Given the description of an element on the screen output the (x, y) to click on. 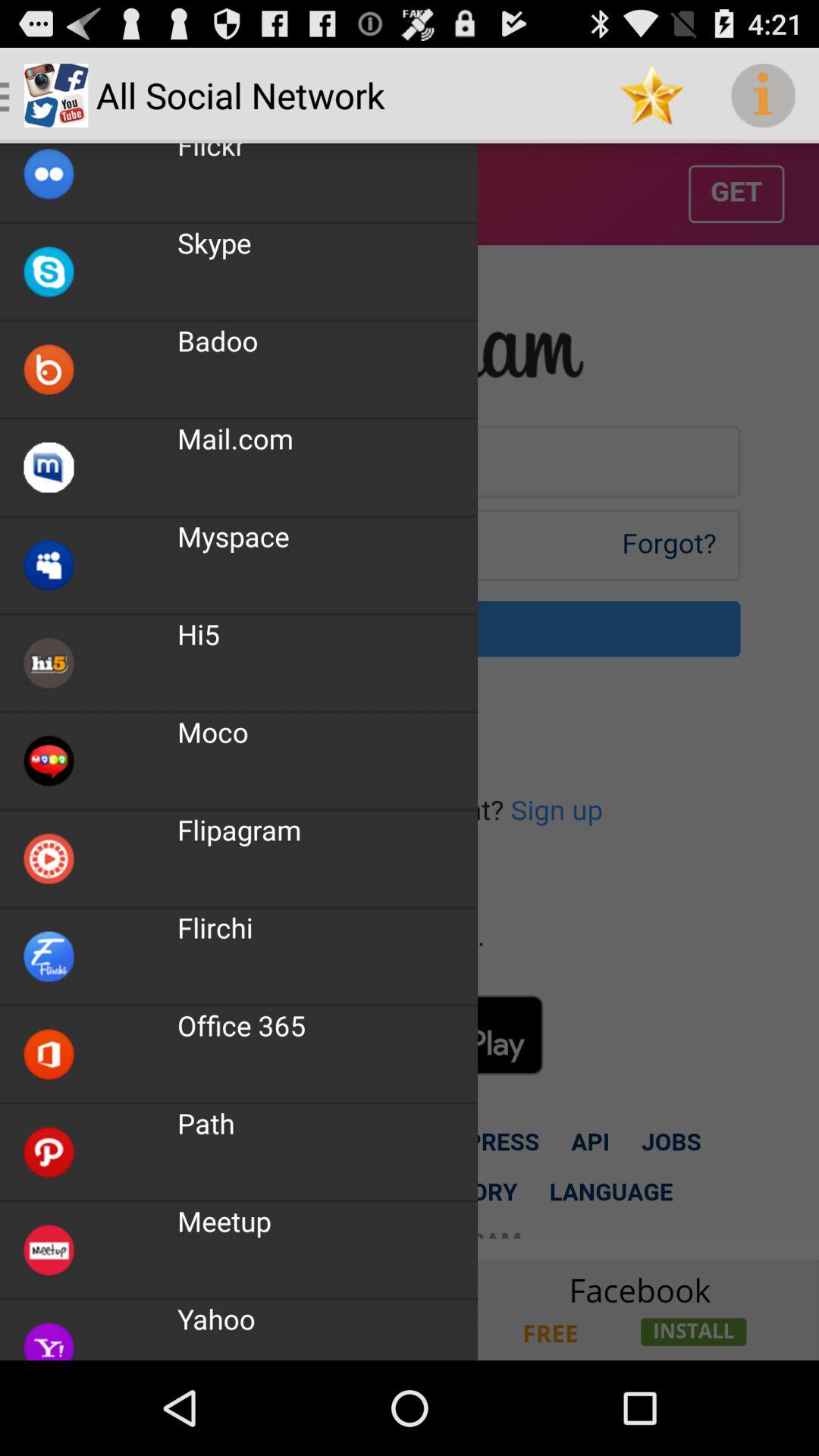
open icon below meetup (215, 1318)
